Given the description of an element on the screen output the (x, y) to click on. 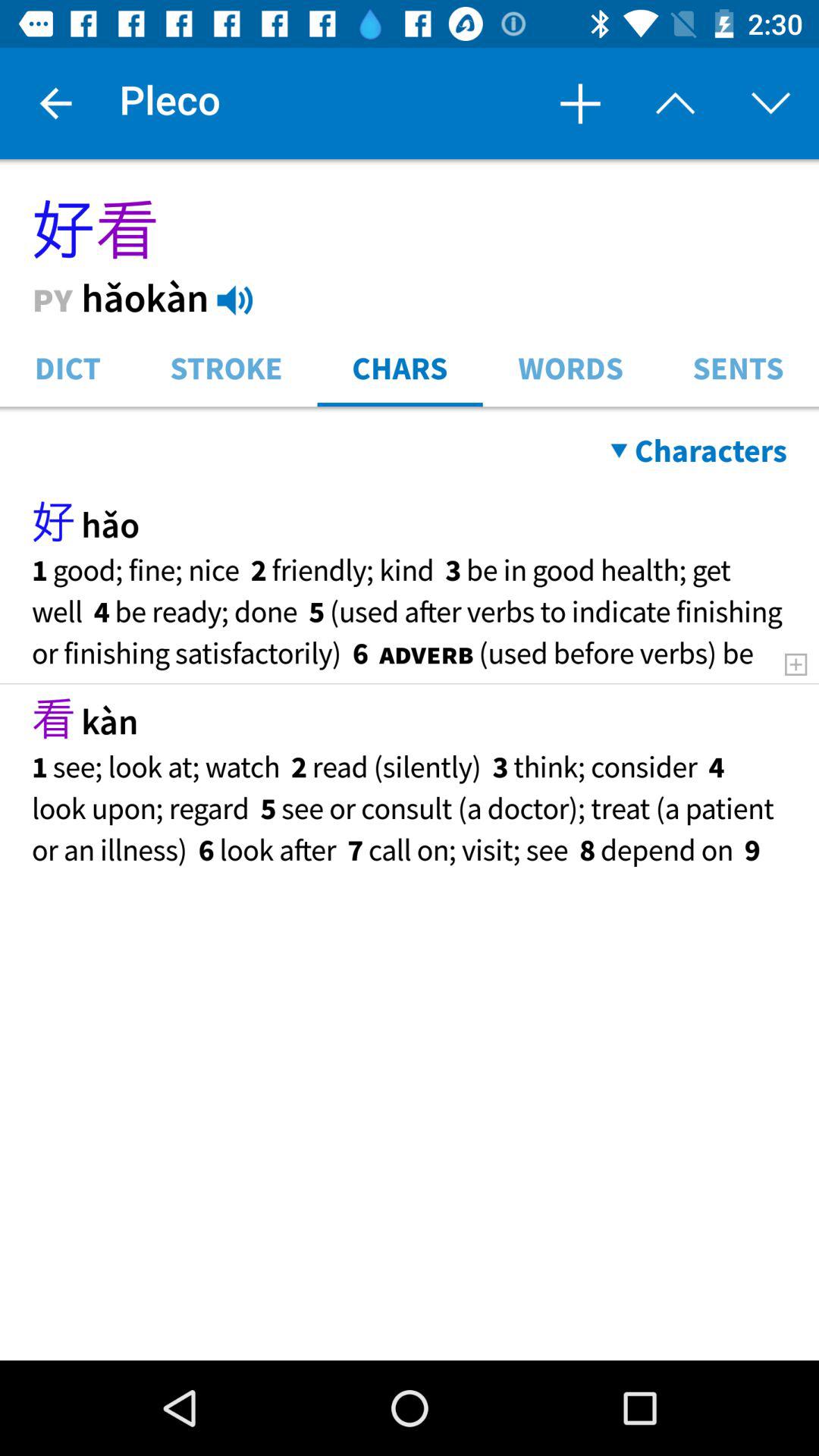
open the stroke (226, 366)
